Given the description of an element on the screen output the (x, y) to click on. 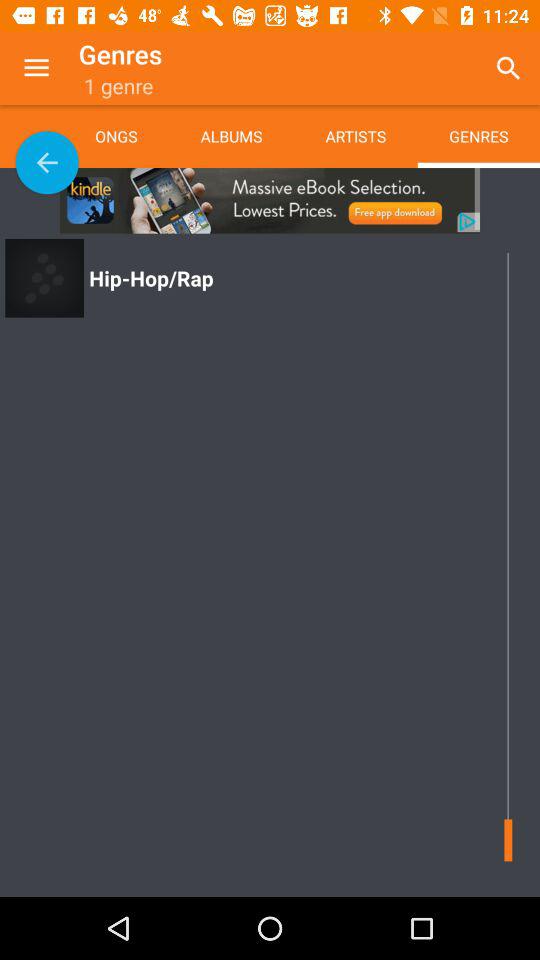
turn on app to the right of the artists icon (508, 67)
